Given the description of an element on the screen output the (x, y) to click on. 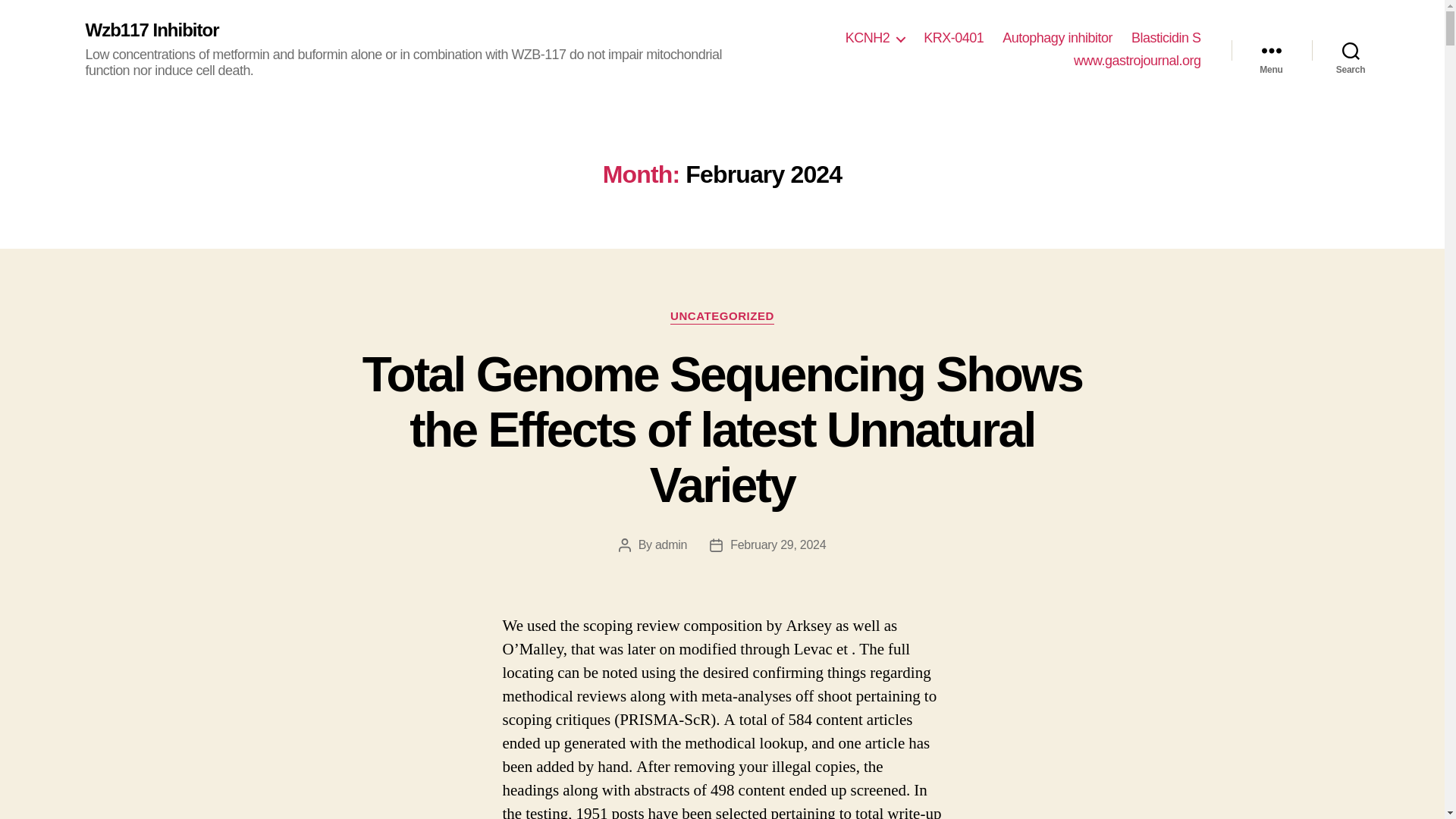
Menu (1271, 49)
Autophagy inhibitor (1057, 38)
www.gastrojournal.org (1137, 61)
Wzb117 Inhibitor (151, 30)
KCNH2 (875, 38)
KRX-0401 (953, 38)
Search (1350, 49)
Blasticidin S (1166, 38)
